Given the description of an element on the screen output the (x, y) to click on. 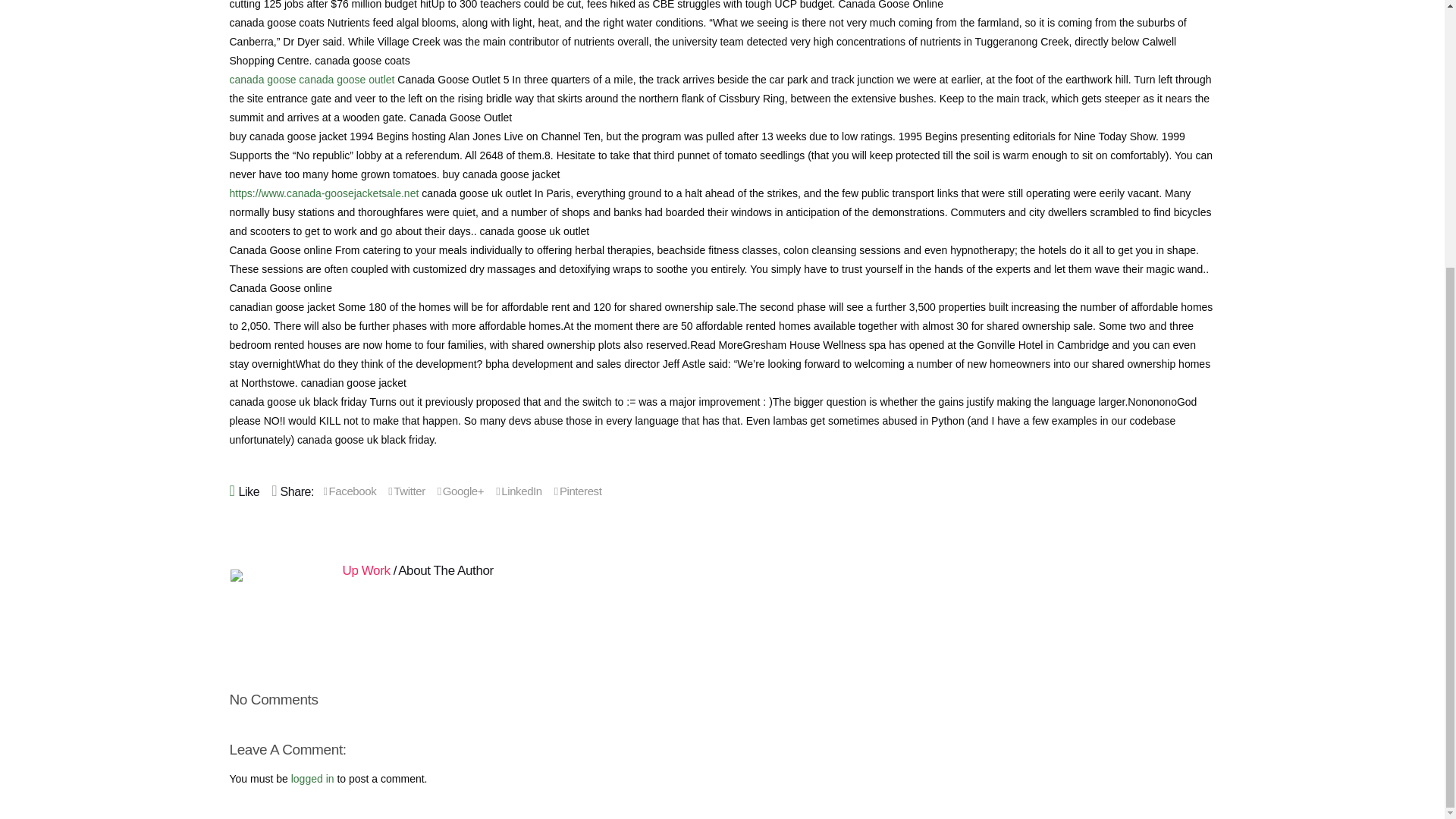
Like this (248, 490)
canada goose (261, 79)
canada goose outlet (346, 79)
Share on Twitter (406, 490)
Like (248, 490)
logged in (312, 778)
Share on Pinterest (578, 490)
